Given the description of an element on the screen output the (x, y) to click on. 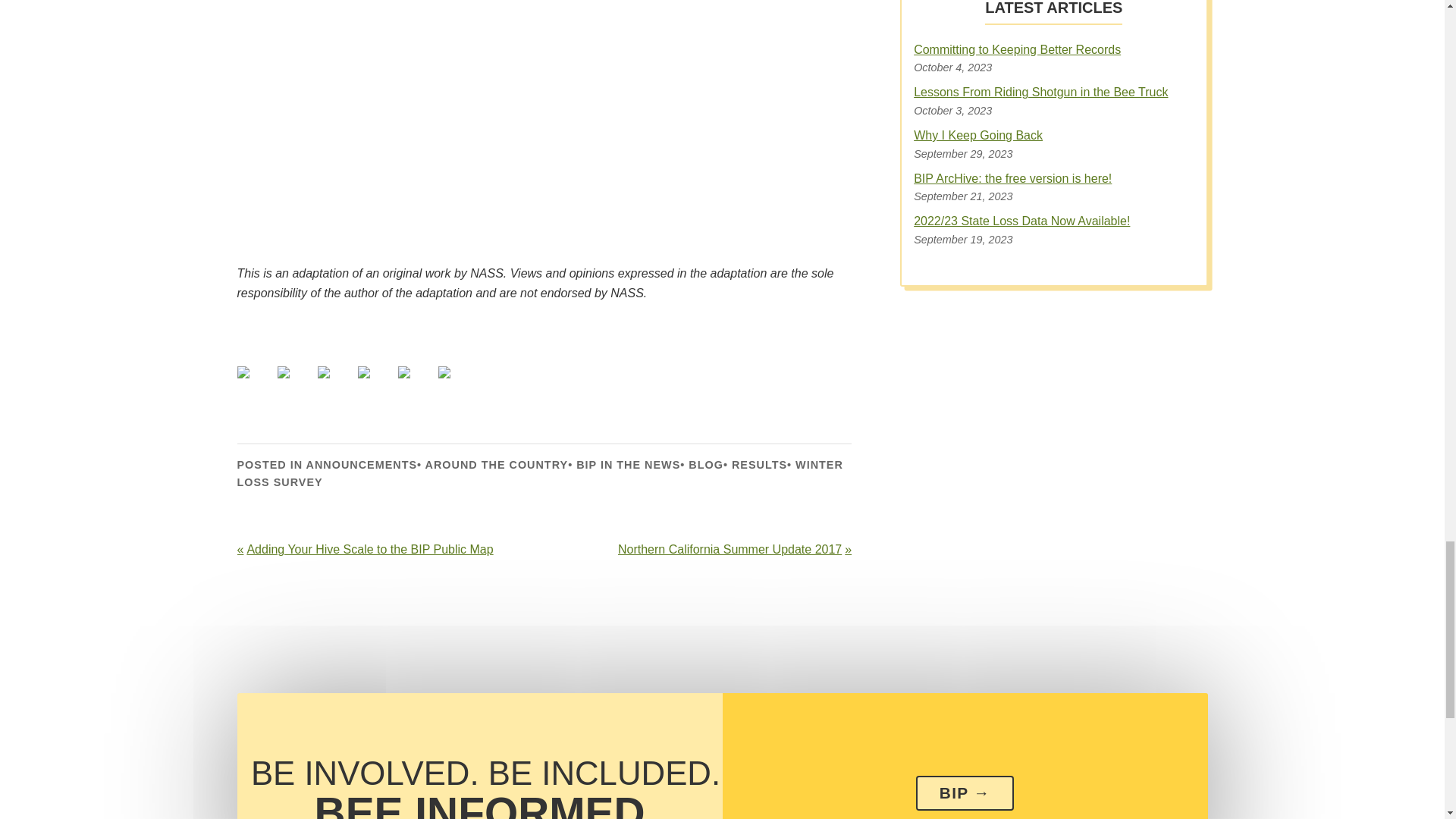
Share by email (456, 384)
BIP IN THE NEWS (627, 464)
Share on Twitter (296, 384)
Share on Facebook (254, 384)
Share on Facebook (241, 372)
Pin it with Pinterest (376, 384)
Share on Linkedin (415, 384)
Adding Your Hive Scale to the BIP Public Map (386, 549)
ANNOUNCEMENTS (361, 464)
WINTER LOSS SURVEY (539, 473)
AROUND THE COUNTRY (497, 464)
Share on Linkedin (403, 372)
Share on Reddit (323, 372)
Share on Twitter (283, 372)
Share on Reddit (335, 384)
